Given the description of an element on the screen output the (x, y) to click on. 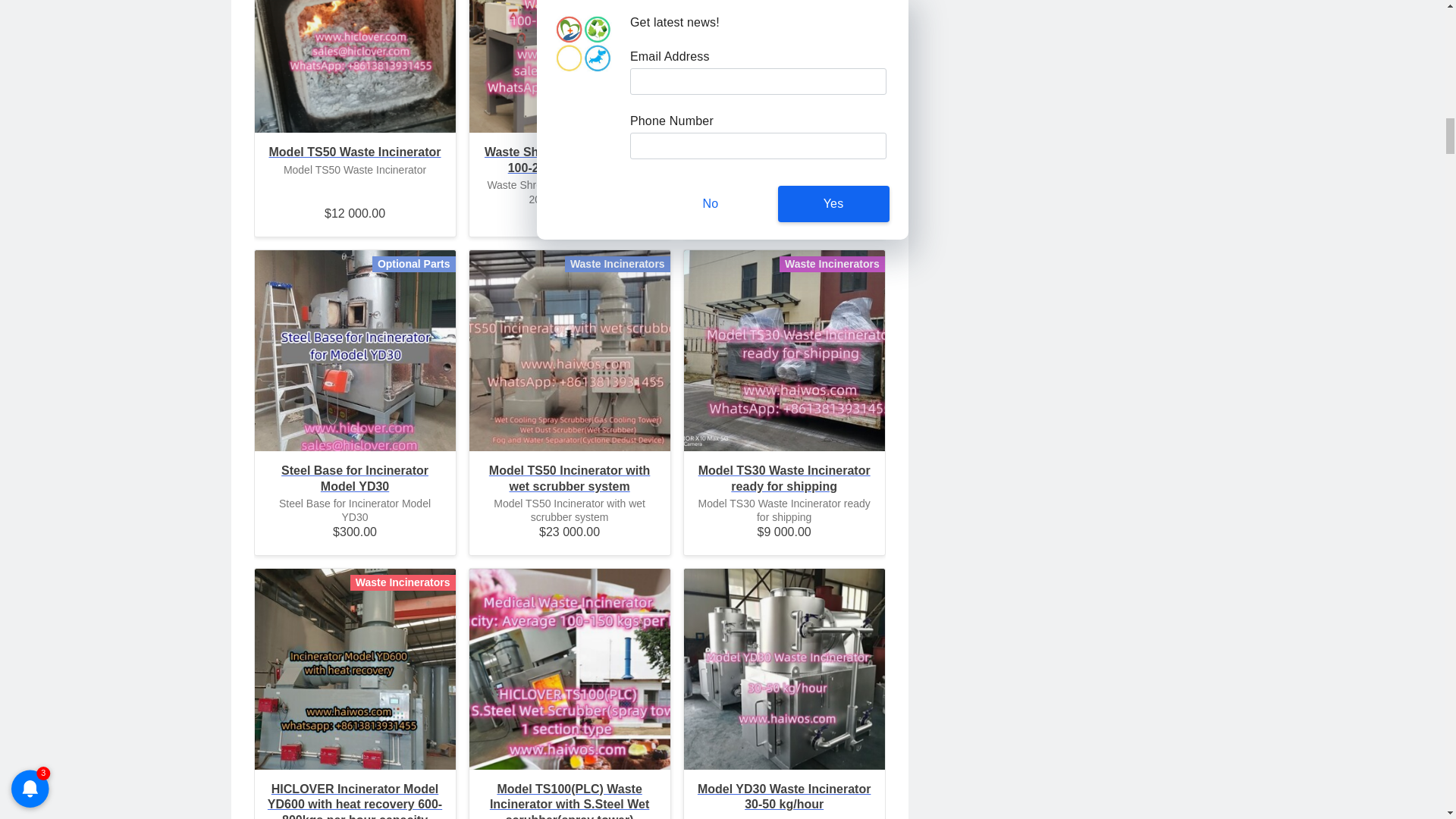
Model TS50 Incinerator with wet scrubber system (568, 350)
Model YD150 Waste Incinerator (784, 160)
Steel Base for Incinerator Model YD30 (354, 350)
Waste Incinerators (568, 350)
Optional Parts (354, 350)
Model TS50 Incinerator with wet scrubber system (568, 350)
Waste Incinerators (354, 66)
Model YD150 Waste Incinerator (784, 83)
Model TS50 Incinerator with wet scrubber system (568, 479)
Optional Parts (568, 66)
Model TS30 Waste Incinerator ready for shipping (783, 350)
Waste Incinerators (784, 66)
Waste Shredder Double Shaft 100-200 Kgs per hour (569, 66)
Model TS50 Waste Incinerator (354, 83)
Steel Base for Incinerator Model YD30 (354, 479)
